Given the description of an element on the screen output the (x, y) to click on. 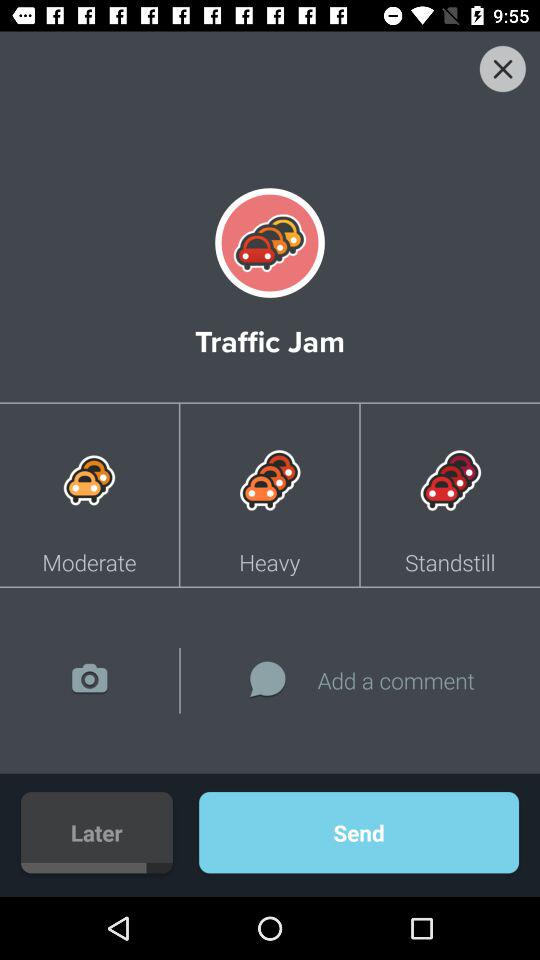
select the icon on left to the button add a comment on the web page (267, 680)
